Given the description of an element on the screen output the (x, y) to click on. 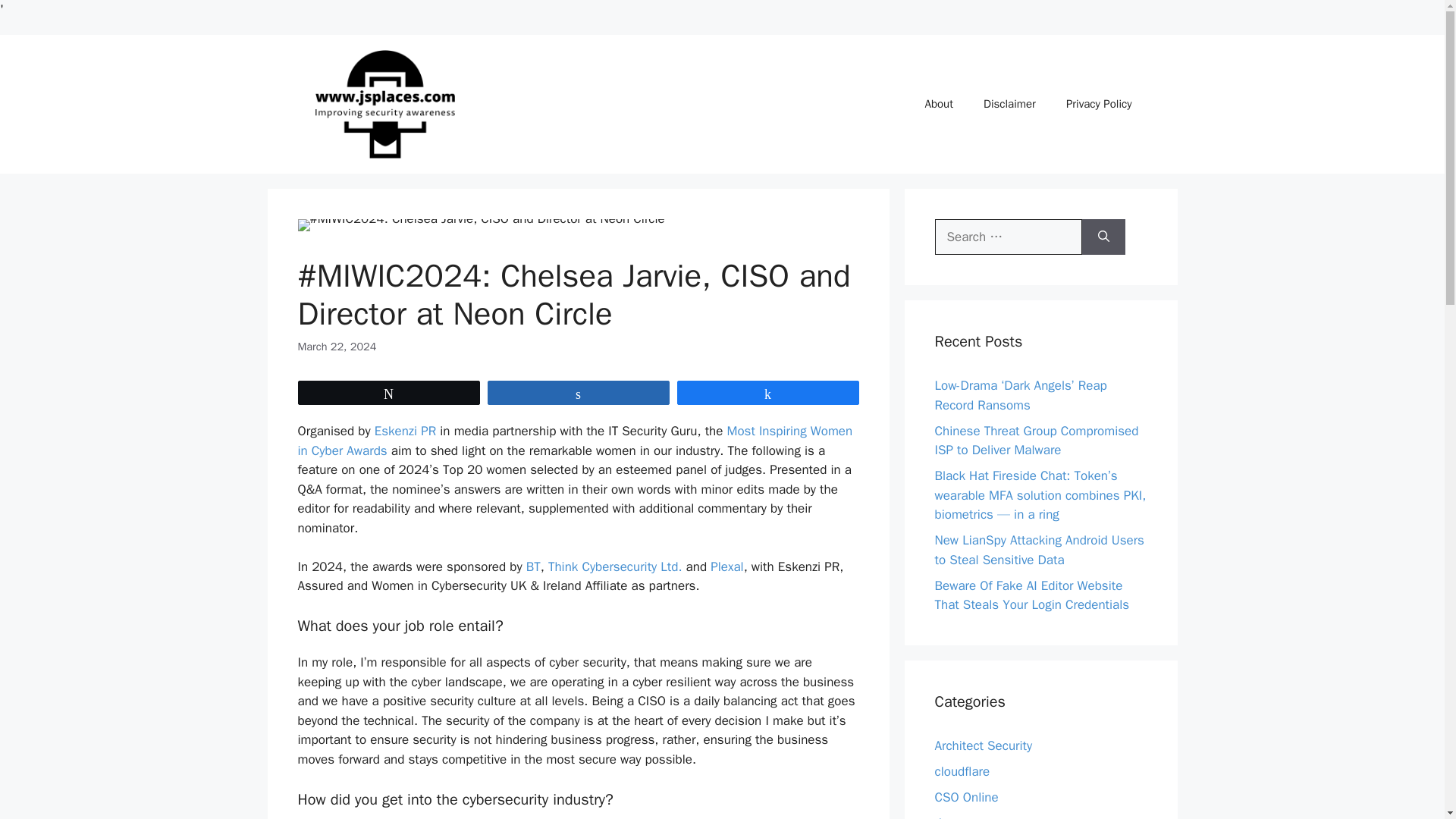
About (939, 103)
New LianSpy Attacking Android Users to Steal Sensitive Data (1038, 550)
hink Cybersecurity Ltd. (617, 566)
Privacy Policy (1099, 103)
Search for: (1007, 237)
Chinese Threat Group Compromised ISP to Deliver Malware (1036, 440)
CSO Online (965, 797)
Eskenzi PR (405, 430)
Plexal (726, 566)
Disclaimer (1009, 103)
 BT (531, 566)
Architect Security (983, 745)
Most Inspiring Women in Cyber Awards (574, 440)
cloudflare (962, 771)
